Given the description of an element on the screen output the (x, y) to click on. 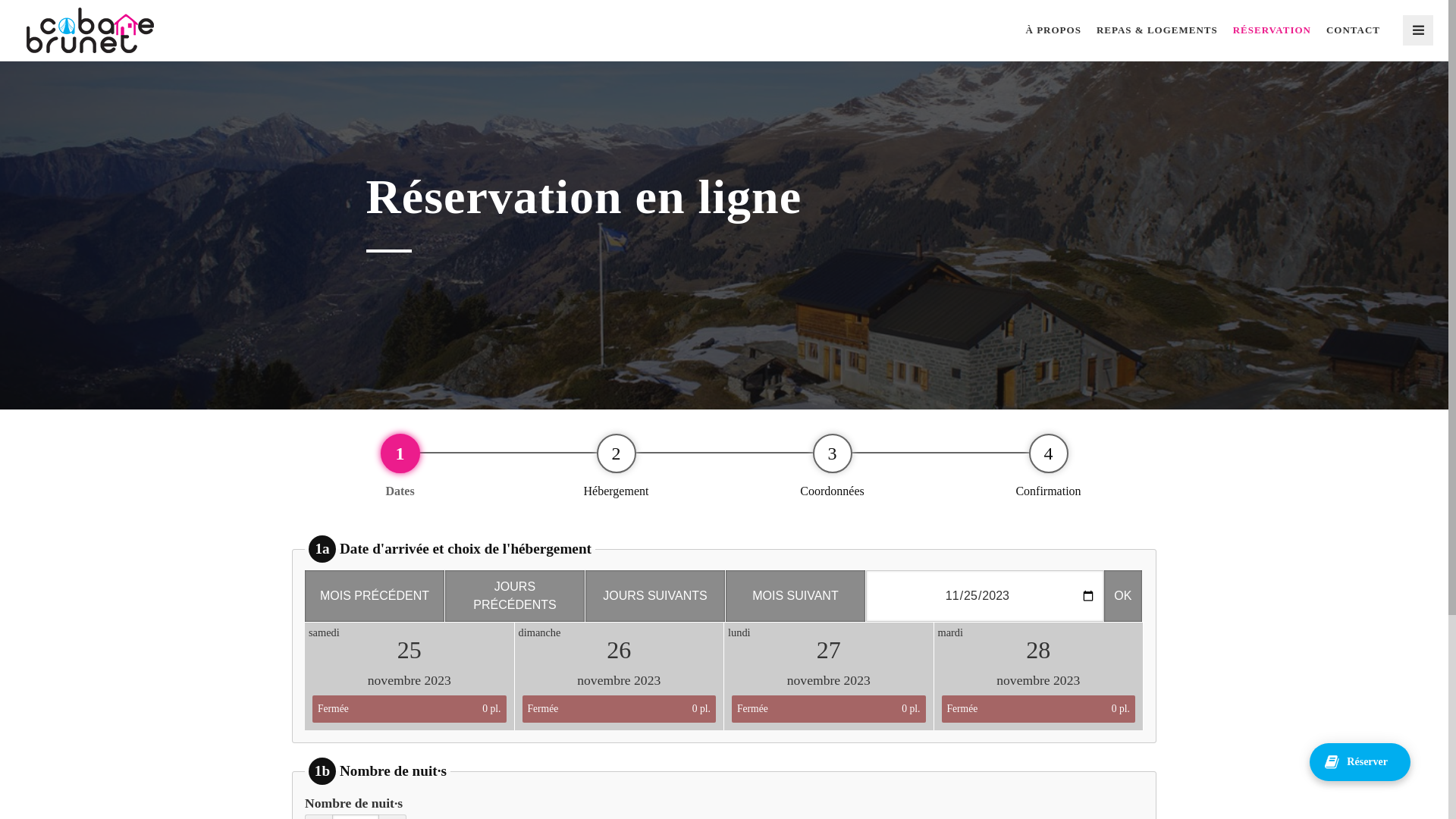
OK Element type: text (1123, 595)
JOURS SUIVANTS Element type: text (654, 595)
CONTACT Element type: text (1353, 30)
REPAS & LOGEMENTS Element type: text (1156, 30)
Format de la date : JJ-MM-AAAA Element type: hover (985, 595)
MOIS SUIVANT Element type: text (795, 595)
